Given the description of an element on the screen output the (x, y) to click on. 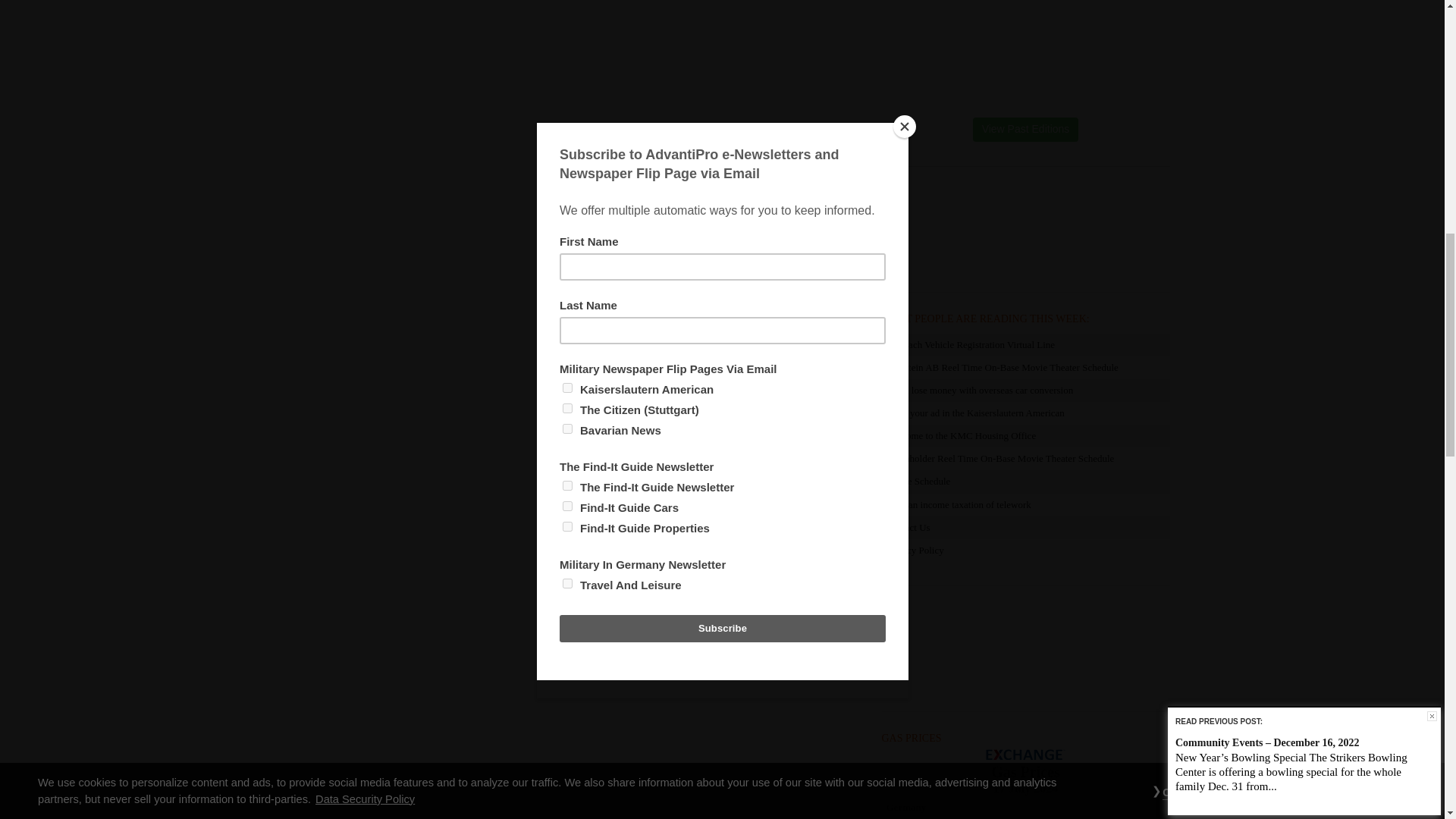
3rd party ad content (1025, 650)
3rd party ad content (1025, 231)
